Given the description of an element on the screen output the (x, y) to click on. 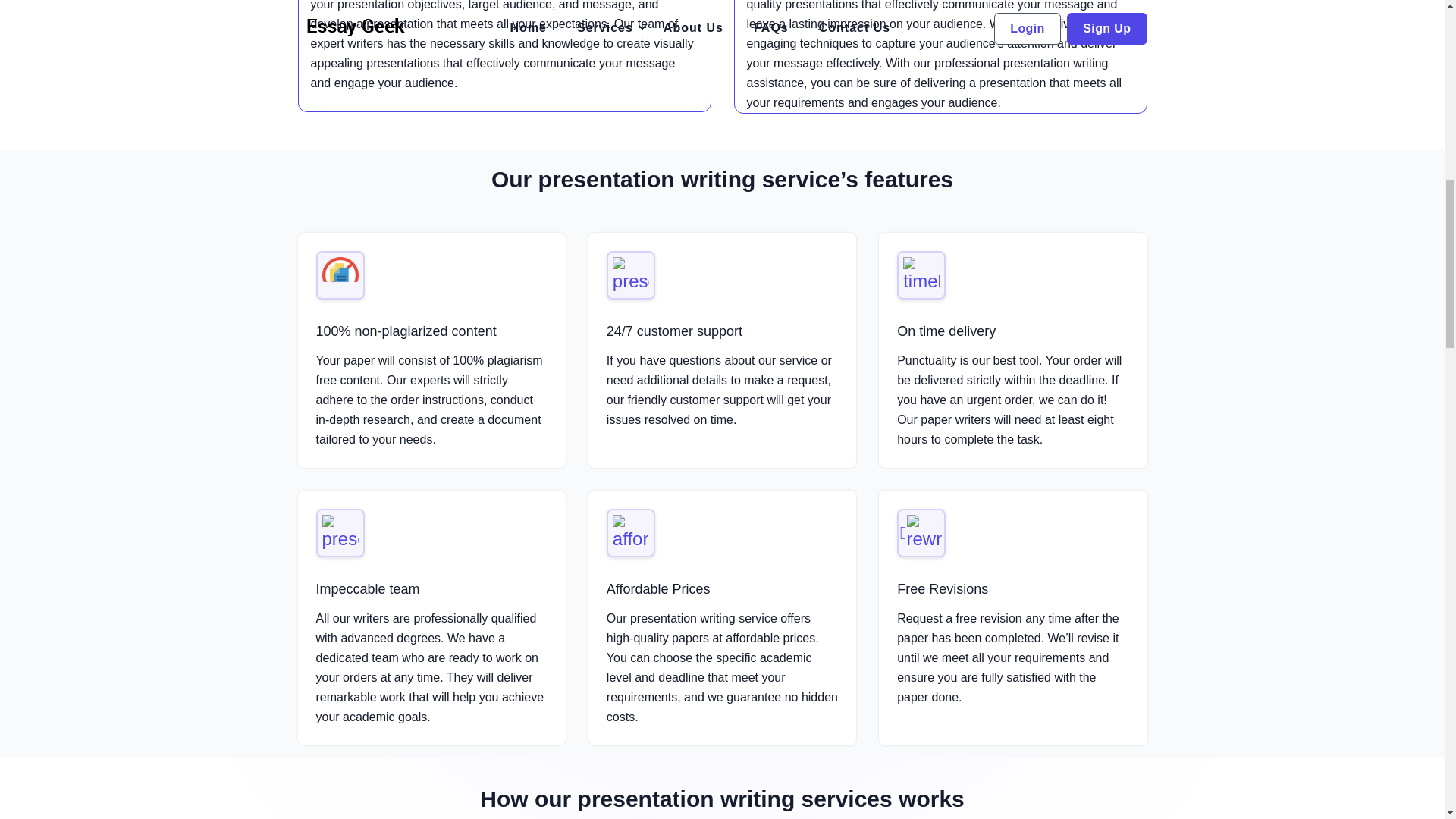
Free Revisions (942, 589)
On time delivery (945, 331)
Affordable Prices (658, 589)
Impeccable team (367, 589)
